Given the description of an element on the screen output the (x, y) to click on. 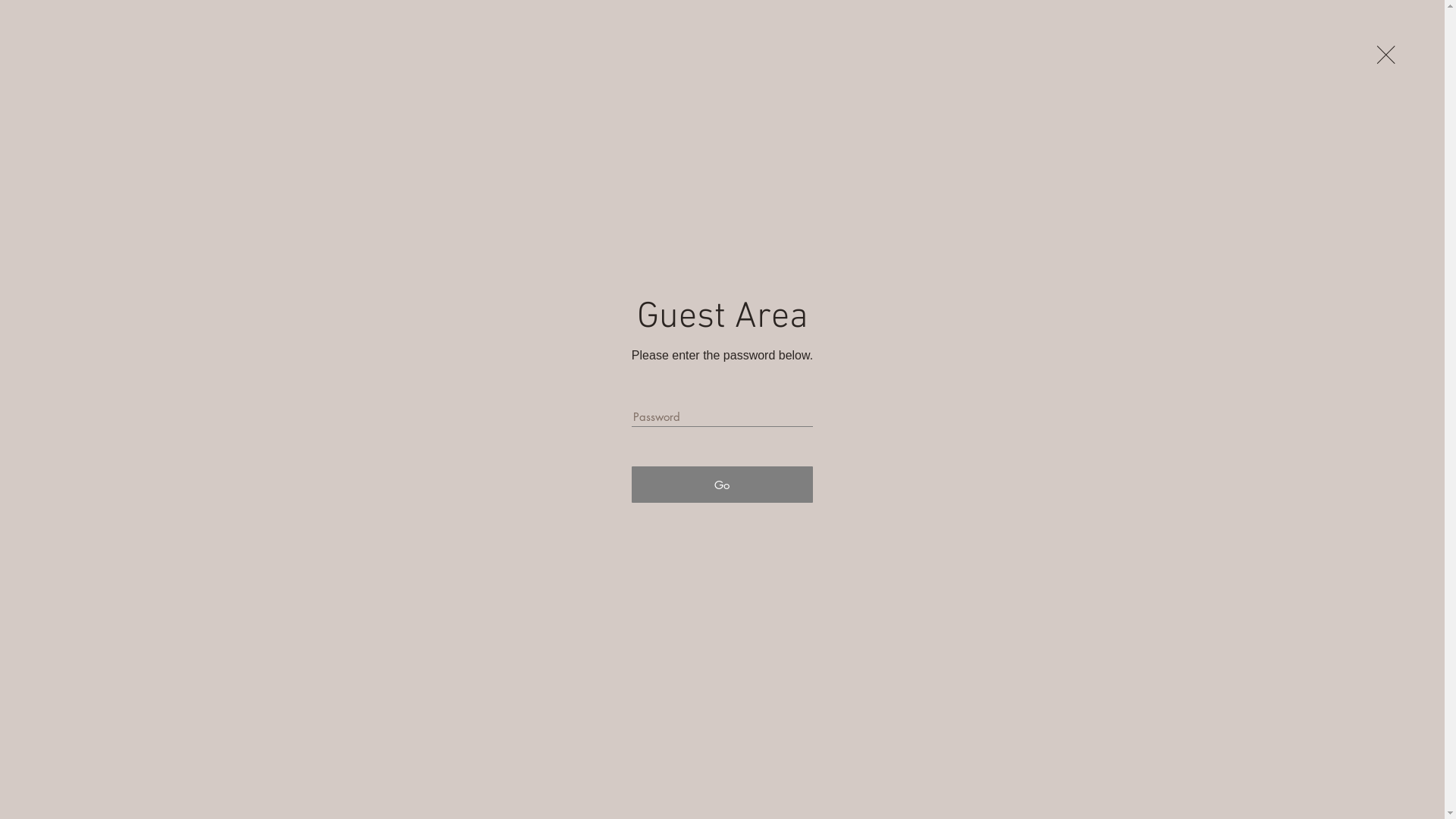
Go Element type: text (721, 484)
